Given the description of an element on the screen output the (x, y) to click on. 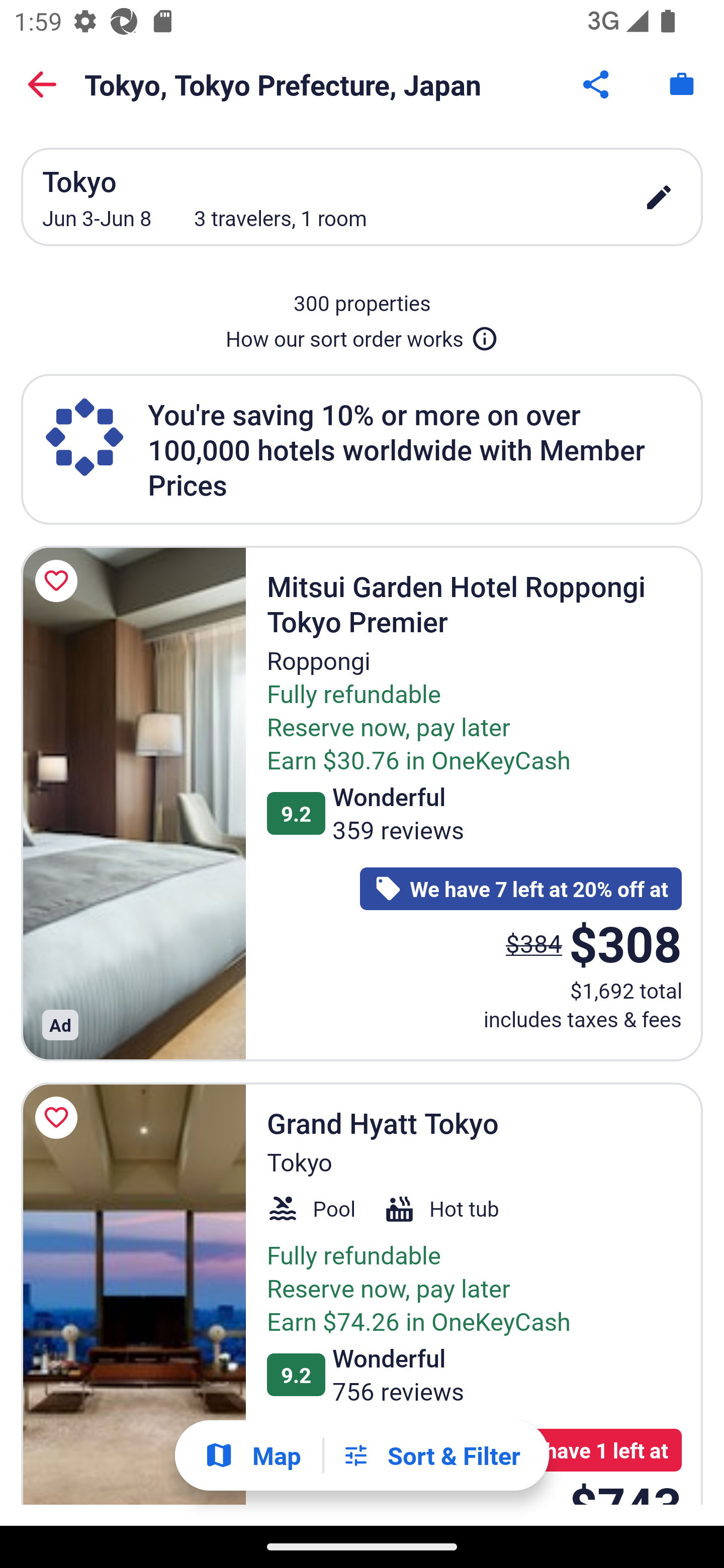
Back (42, 84)
Share Button (597, 84)
Trips. Button (681, 84)
Tokyo Jun 3-Jun 8 3 travelers, 1 room edit (361, 196)
How our sort order works (361, 334)
Mitsui Garden Hotel Roppongi Tokyo Premier (133, 803)
$384 The price was $384 (533, 943)
Save Grand Hyatt Tokyo to a trip (59, 1117)
Grand Hyatt Tokyo (133, 1293)
Filters Sort & Filter Filters Button (430, 1455)
Show map Map Show map Button (252, 1455)
